Given the description of an element on the screen output the (x, y) to click on. 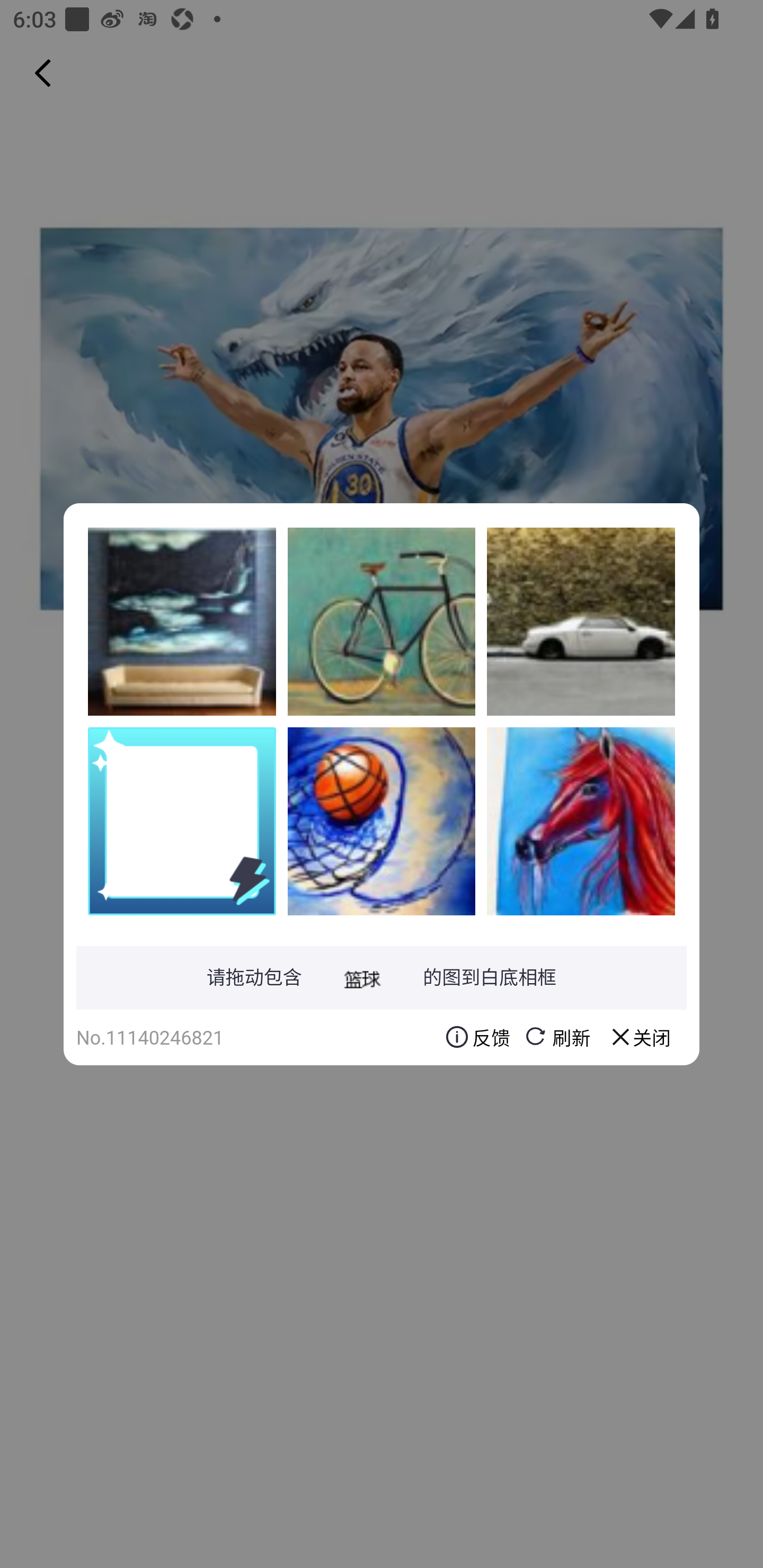
hE5H (181, 621)
mltJ1fi92y6dwaKUH+7lm07h9P5pbp3J0gicfqqbjsXUu6lQ (381, 820)
TgprY2Kt8gbvkHwS (580, 820)
